Given the description of an element on the screen output the (x, y) to click on. 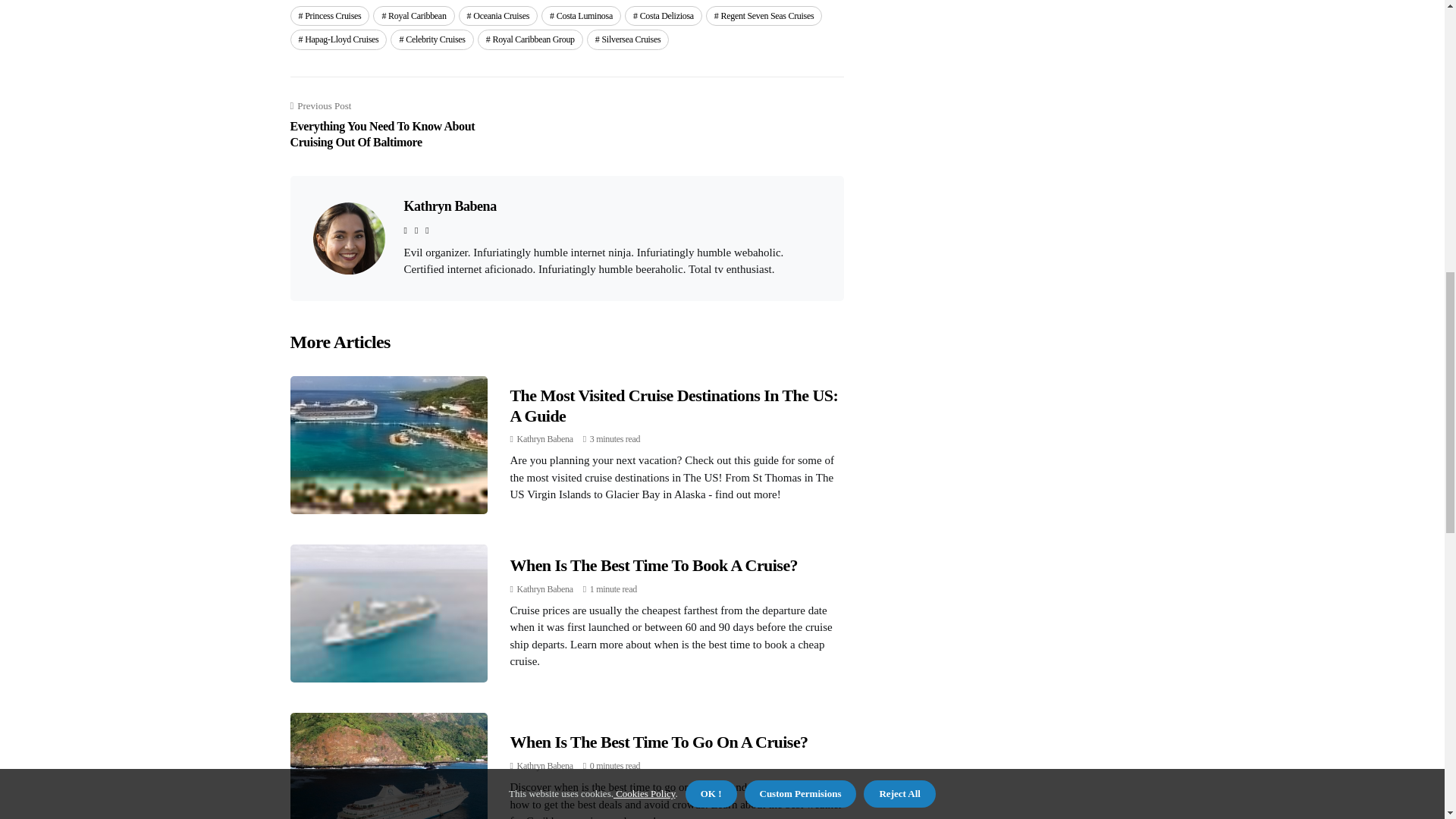
Celebrity Cruises (431, 39)
Costa Deliziosa (662, 15)
When Is The Best Time To Go On A Cruise? (658, 741)
Hapag-Lloyd Cruises (338, 39)
Posts by Kathryn Babena (544, 588)
Kathryn Babena (544, 439)
Costa Luminosa (581, 15)
Kathryn Babena (544, 765)
Oceania Cruises (498, 15)
